Given the description of an element on the screen output the (x, y) to click on. 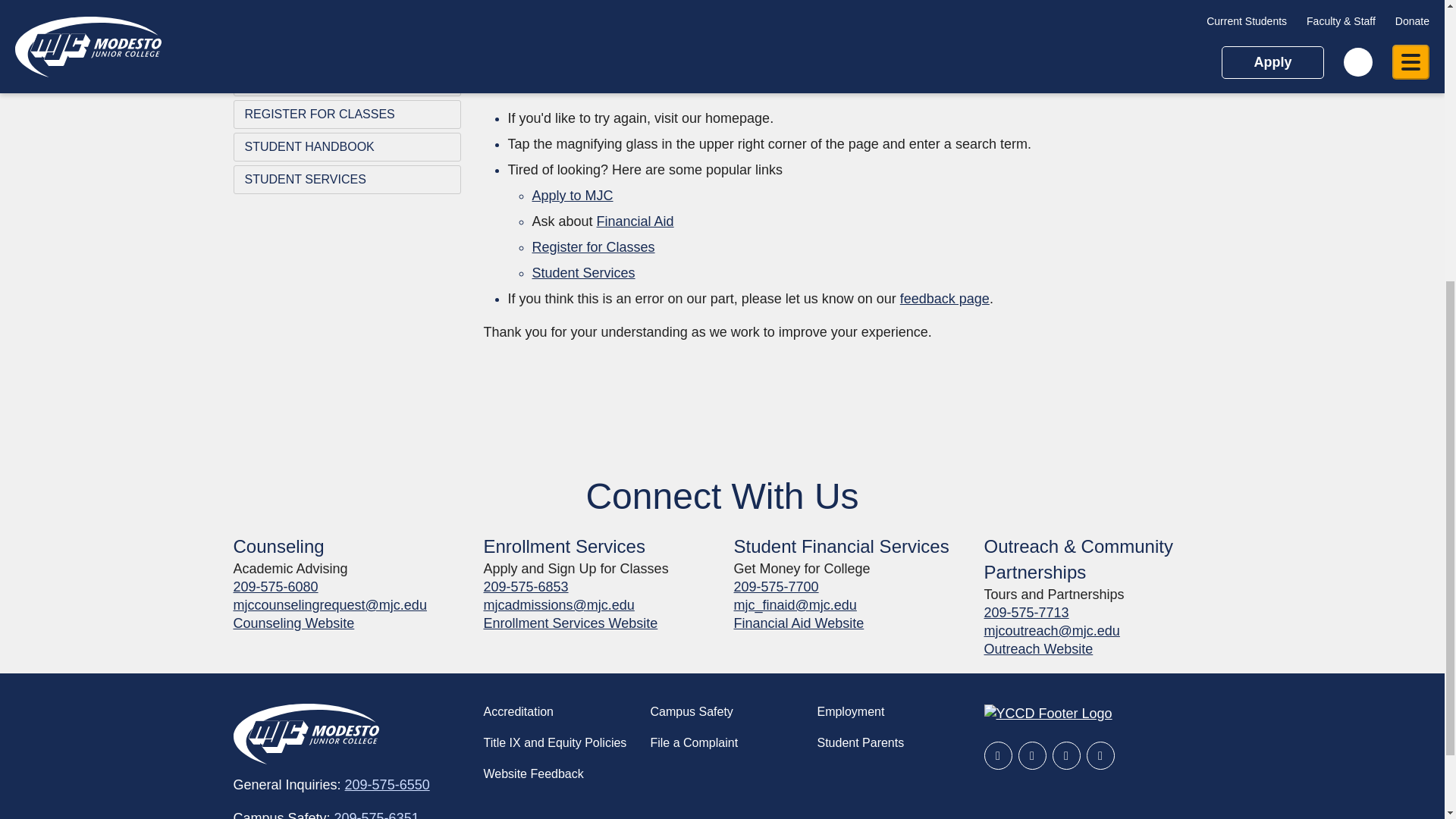
Twitter (1031, 755)
Facebook (997, 755)
Linked In (1099, 755)
Instagram (1066, 755)
